Given the description of an element on the screen output the (x, y) to click on. 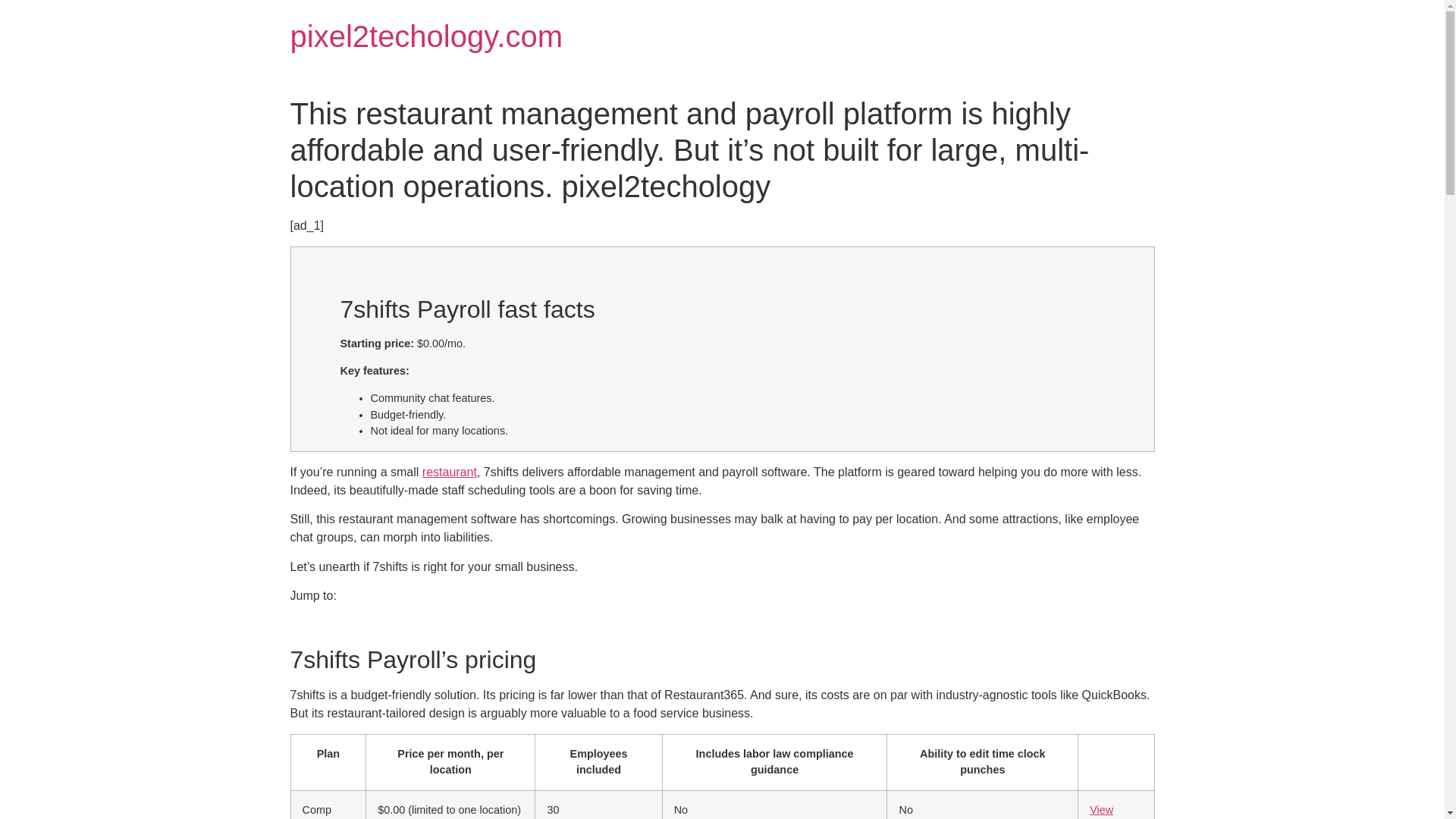
View Plans (1102, 811)
Home (425, 36)
pixel2techology.com (425, 36)
restaurant (449, 472)
